Given the description of an element on the screen output the (x, y) to click on. 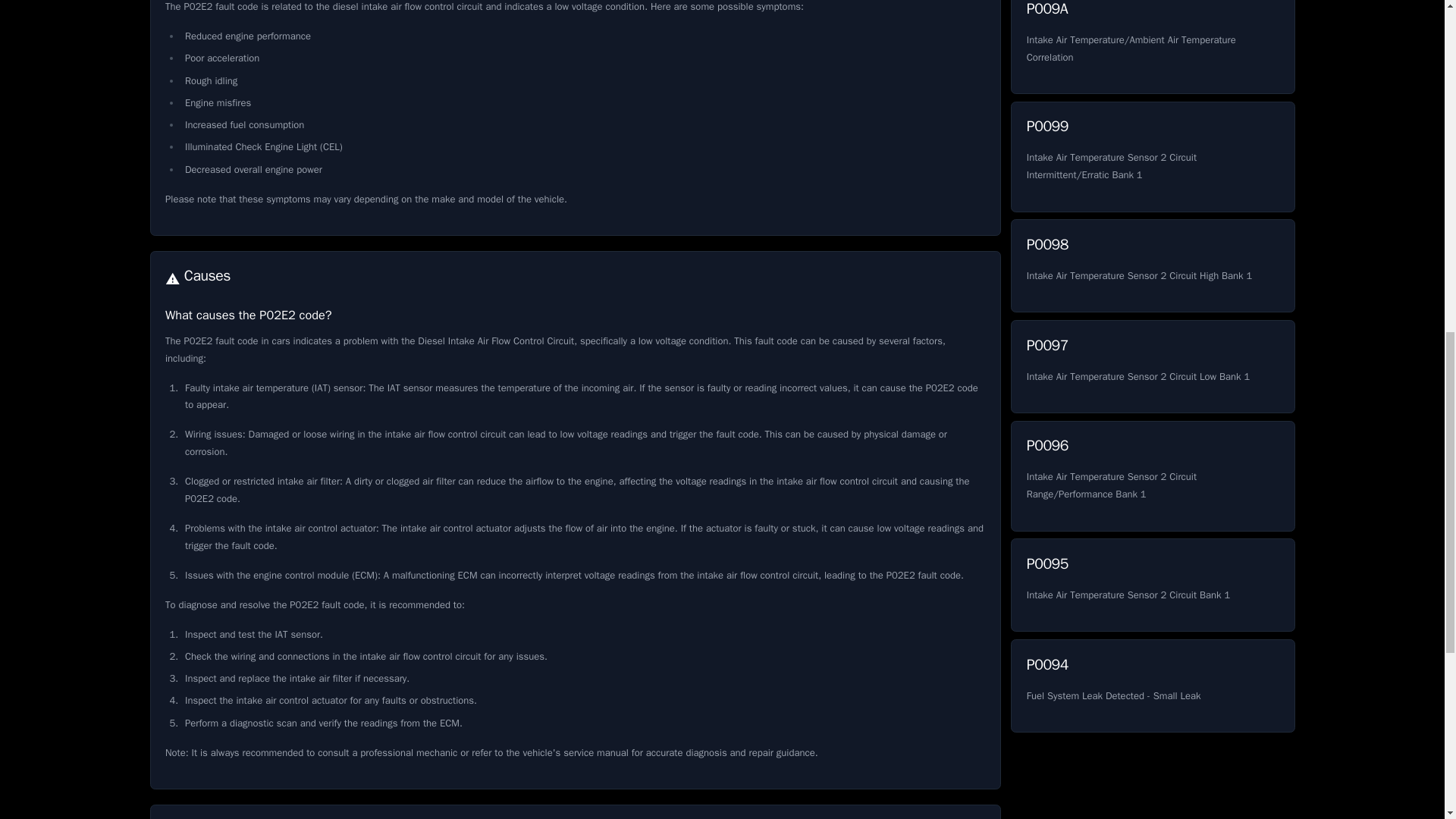
P0099 (1152, 156)
P0095 (1152, 584)
P0096 (1152, 685)
P0098 (1152, 584)
P009A (1152, 475)
P0097 (1152, 265)
